Given the description of an element on the screen output the (x, y) to click on. 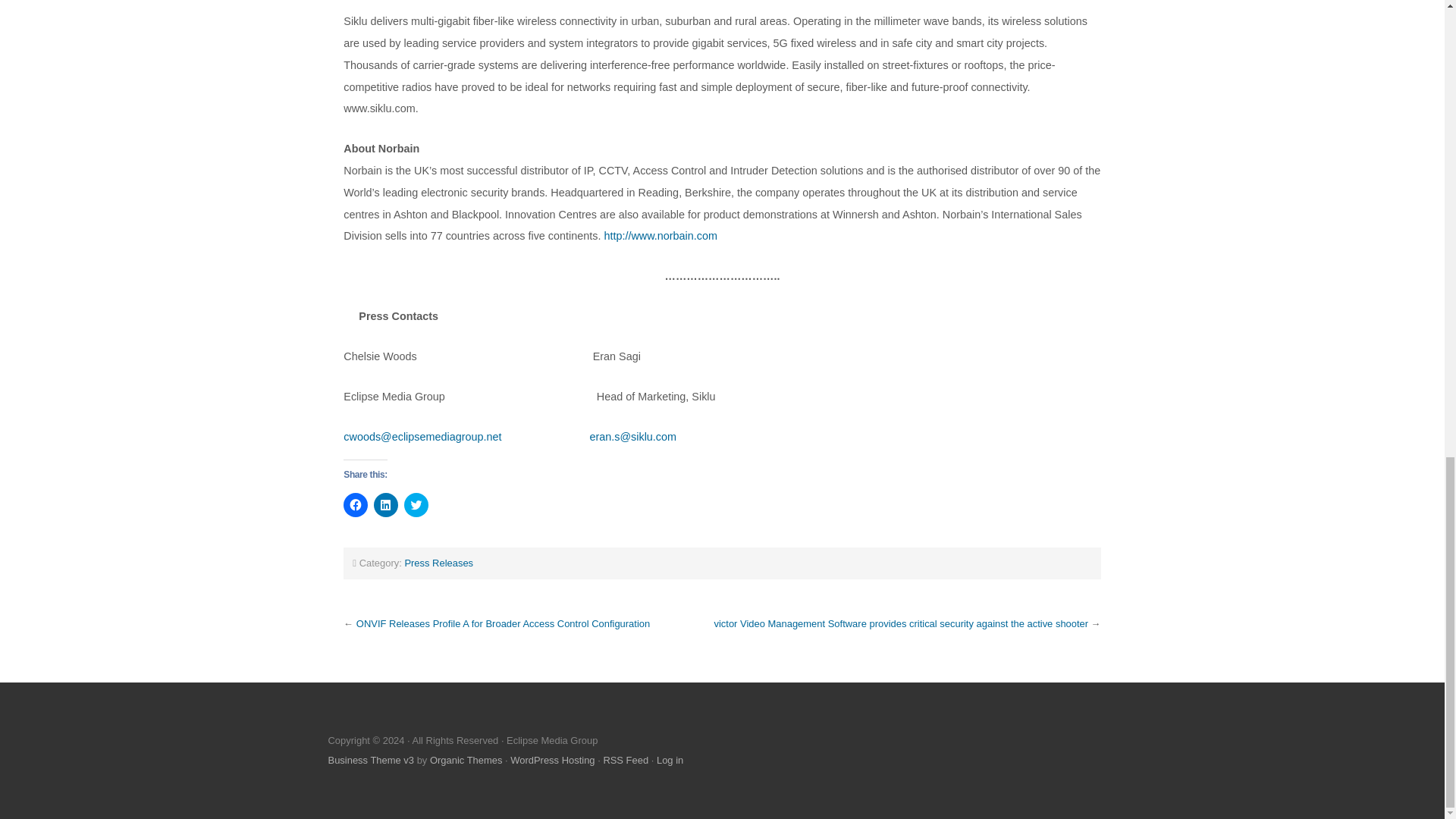
Press Releases (438, 562)
WordPress Hosting (552, 759)
Click to share on LinkedIn (385, 504)
Organic Themes (465, 759)
WordPress Hosting (552, 759)
Log in (669, 759)
RSS Feed (624, 759)
Click to share on Facebook (355, 504)
Click to share on Twitter (416, 504)
Business Theme v3 (370, 759)
